Given the description of an element on the screen output the (x, y) to click on. 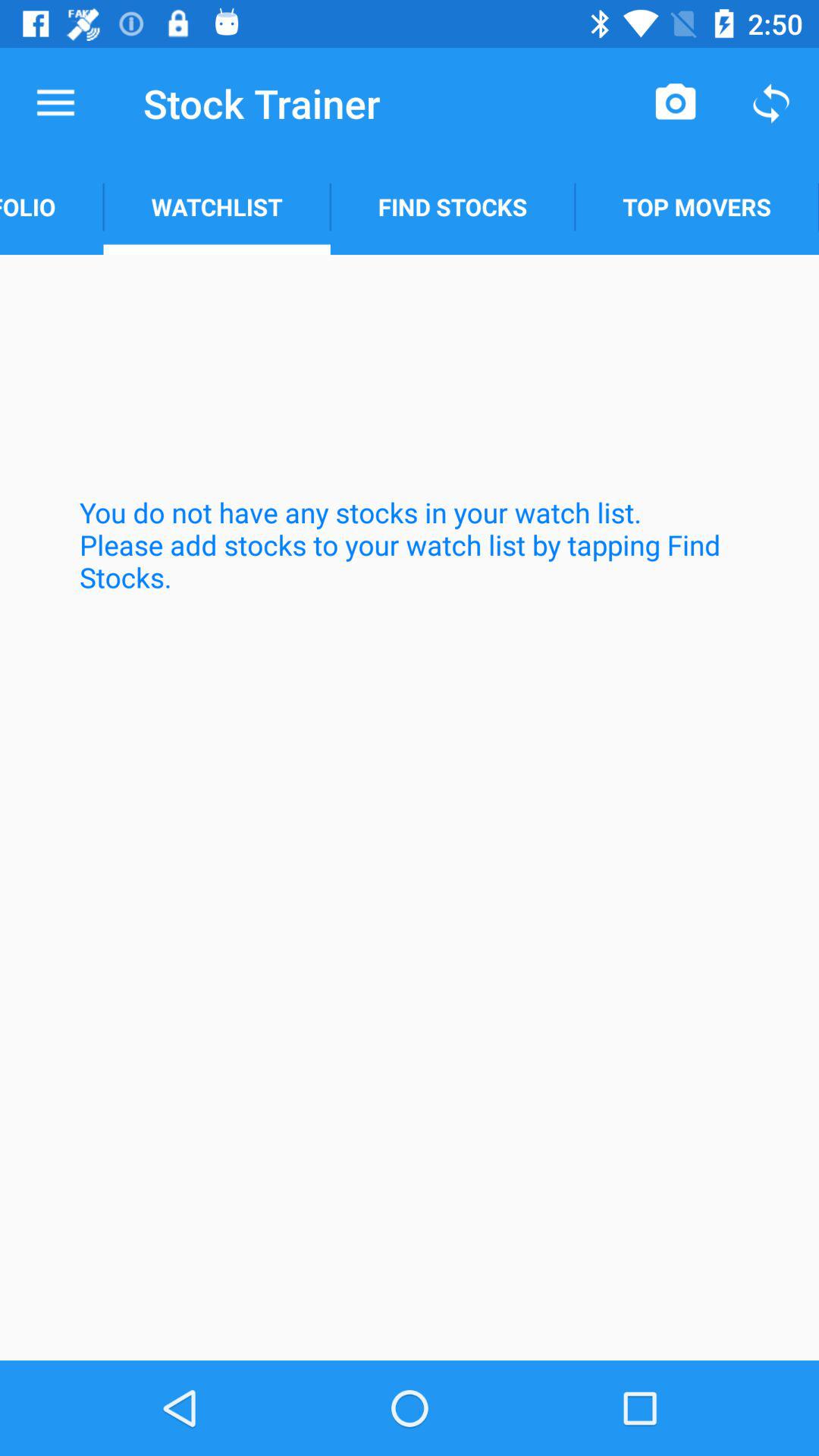
turn on the icon above the top movers icon (771, 103)
